Given the description of an element on the screen output the (x, y) to click on. 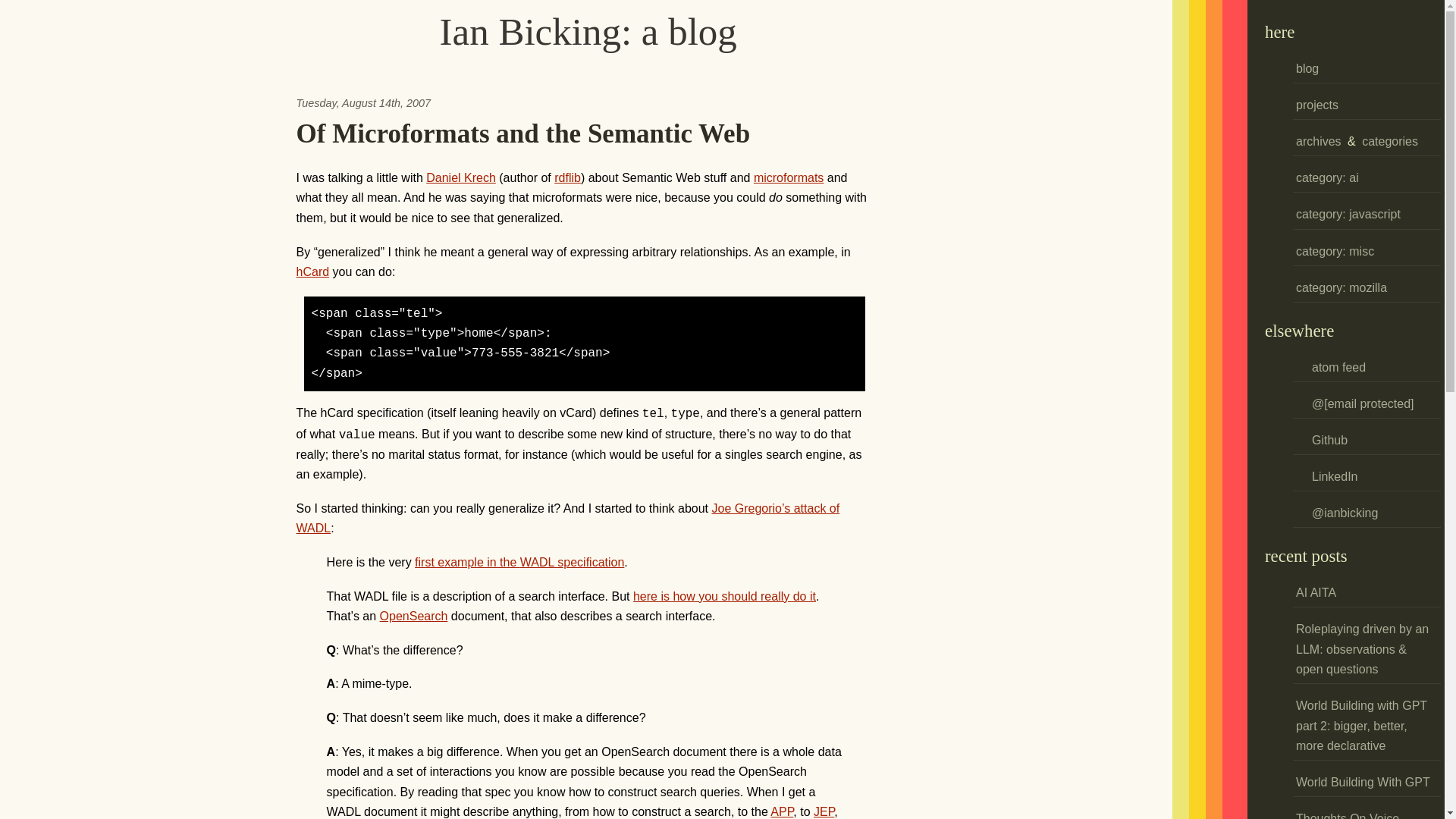
here is how you should really do it (724, 595)
LinkedIn (1326, 476)
atom feed (1330, 367)
archives (1317, 141)
JEP (823, 811)
here (1279, 31)
Daniel Krech (461, 177)
projects (1316, 104)
category: mozilla (1341, 288)
